Given the description of an element on the screen output the (x, y) to click on. 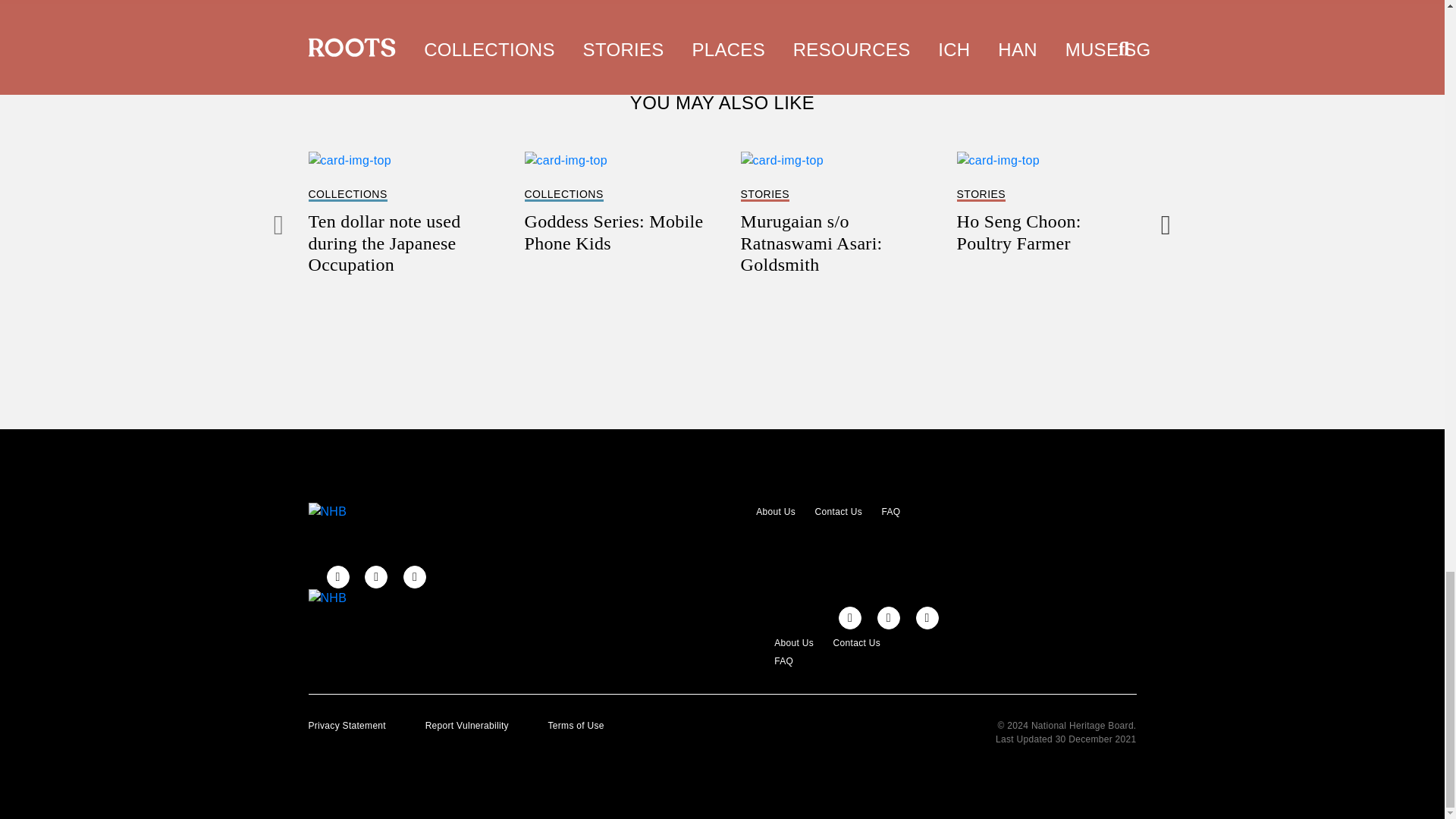
Instagram (888, 617)
Facebook (849, 617)
FAQ (886, 511)
Instagram (376, 576)
YouTube (927, 617)
Facebook (337, 576)
About Us (769, 511)
YouTube (414, 576)
Contact Us (614, 201)
